Given the description of an element on the screen output the (x, y) to click on. 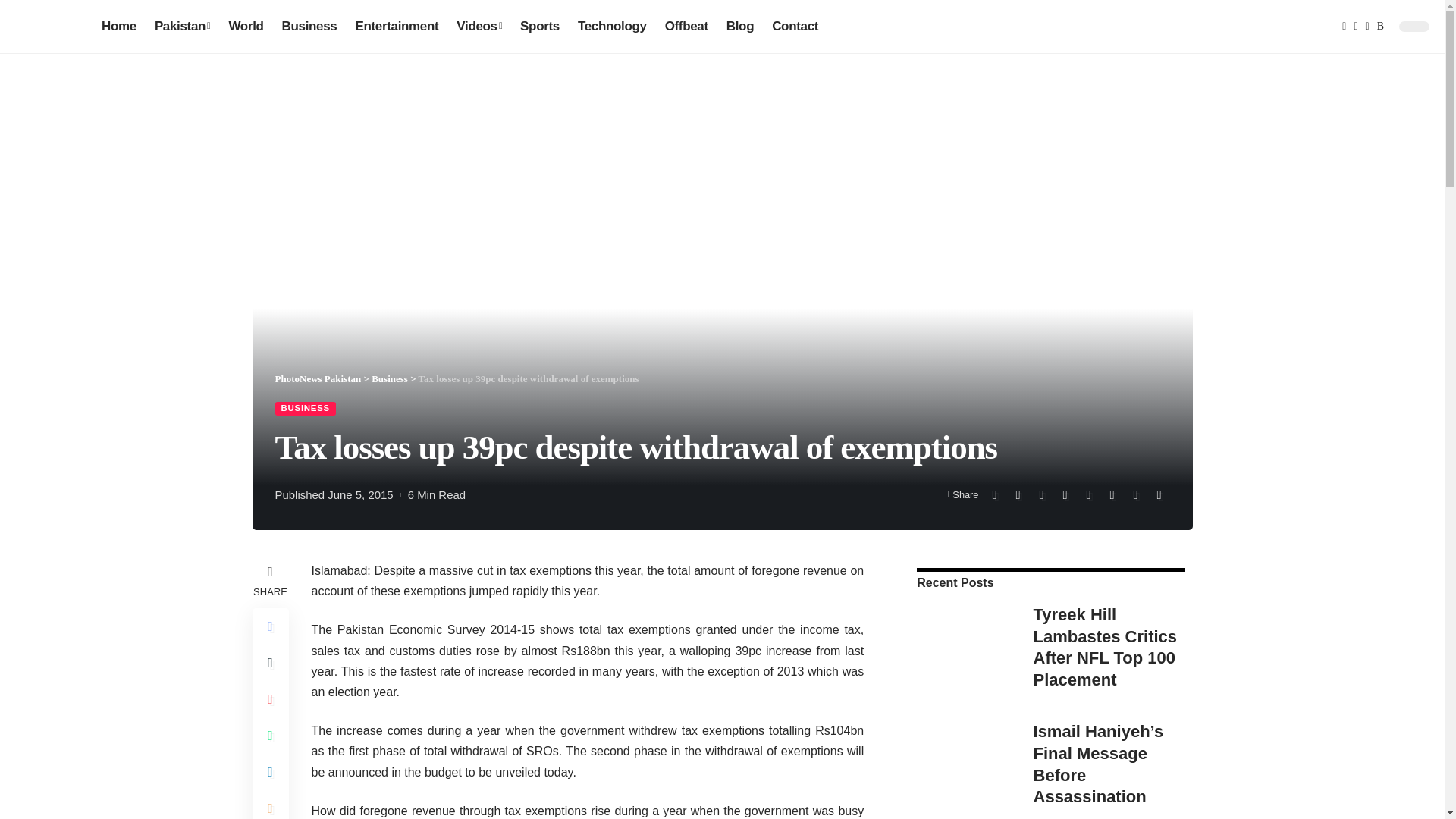
Tyreek Hill Lambastes Critics After NFL Top 100 Placement (963, 647)
Pakistan (182, 26)
Offbeat (686, 26)
Go to the Business Category archives. (389, 378)
Contact (794, 26)
World (245, 26)
Technology (612, 26)
Business (309, 26)
Sports (540, 26)
Go to PhotoNews Pakistan. (318, 378)
Entertainment (396, 26)
Videos (478, 26)
Blog (739, 26)
Home (119, 26)
